Given the description of an element on the screen output the (x, y) to click on. 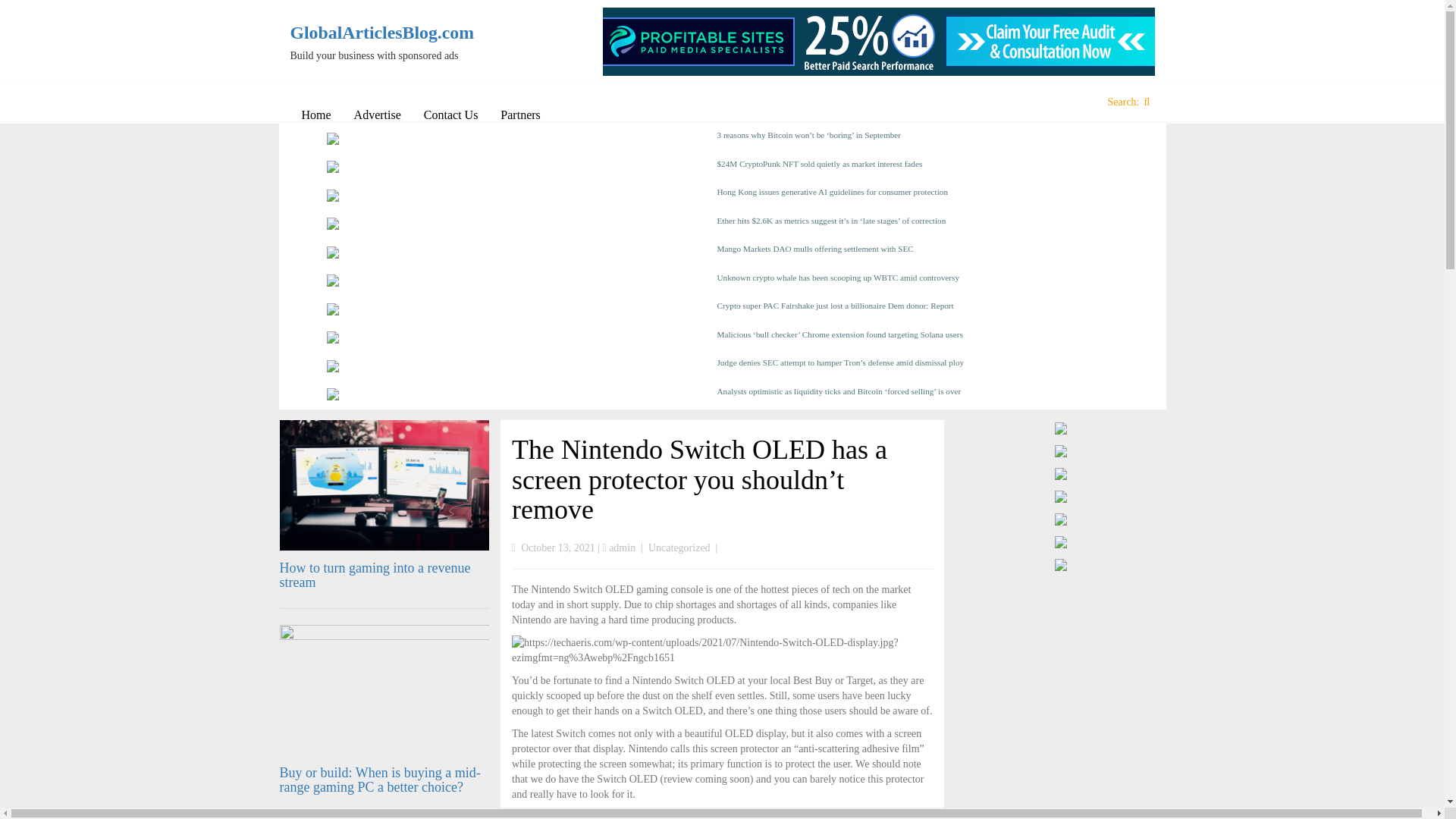
Mango Markets DAO mulls offering settlement with SEC (917, 253)
GlobalArticlesBlog.com (389, 32)
Partners (520, 115)
Home (315, 115)
Advertise (377, 115)
How to turn gaming into a revenue stream (374, 575)
Posts by admin (621, 547)
